Given the description of an element on the screen output the (x, y) to click on. 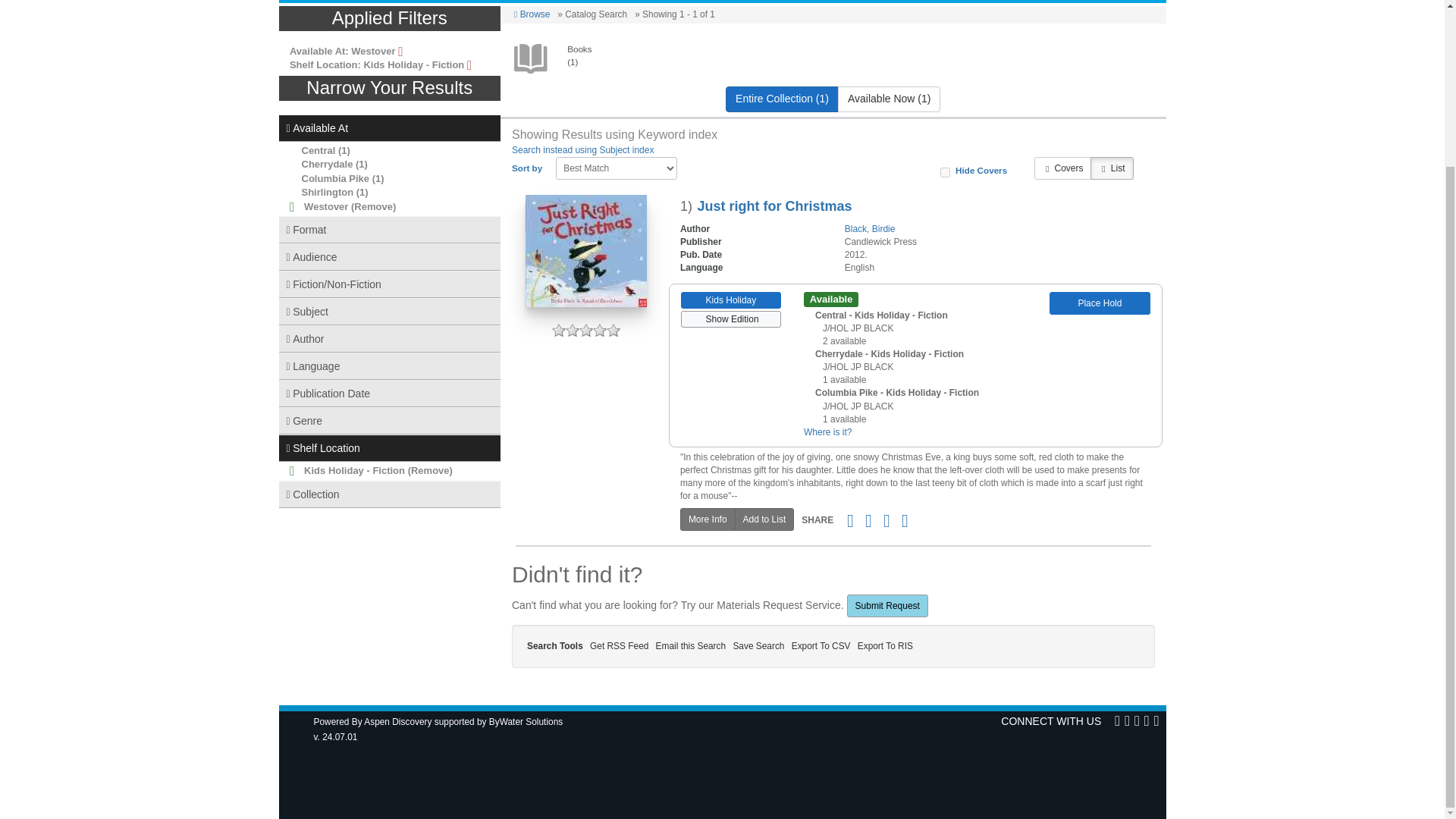
Central (318, 150)
on (945, 172)
Shirlington (327, 192)
Columbia Pike (335, 178)
Cherrydale (327, 163)
